Given the description of an element on the screen output the (x, y) to click on. 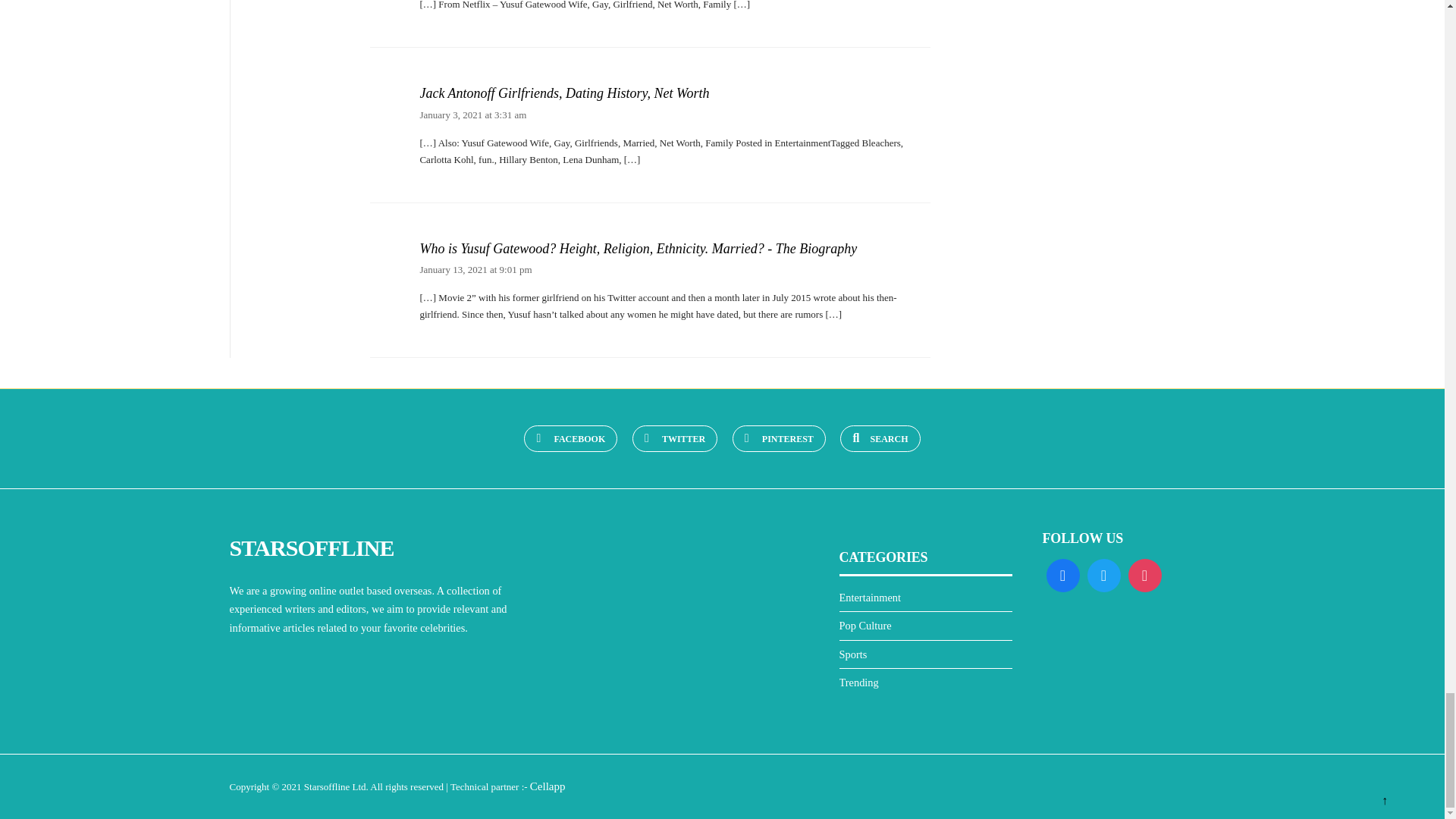
January 3, 2021 at 3:31 am (472, 114)
January 13, 2021 at 9:01 pm (475, 269)
Pinterest (778, 438)
Jack Antonoff Girlfriends, Dating History, Net Worth (674, 93)
